Given the description of an element on the screen output the (x, y) to click on. 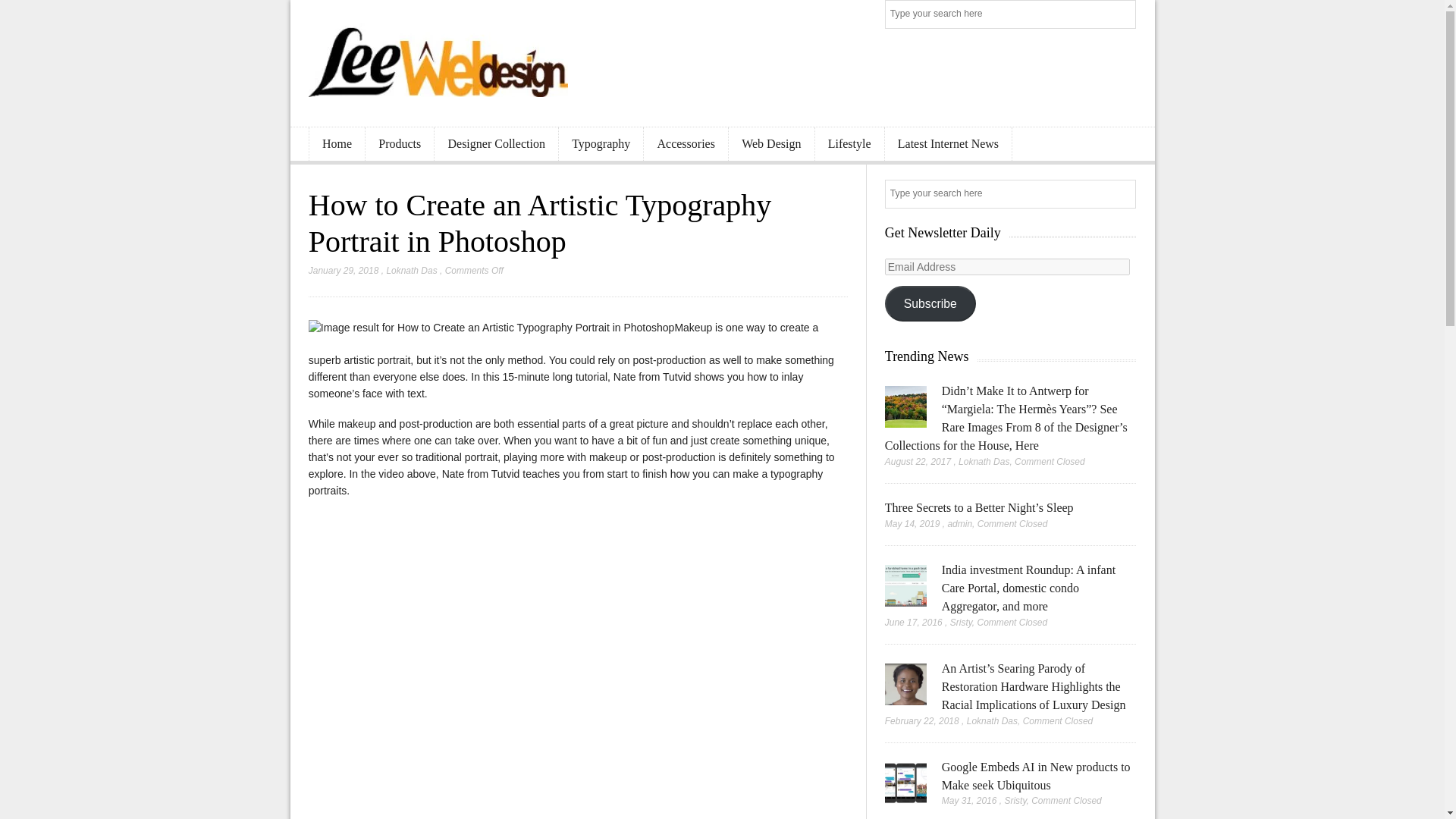
Search (1123, 15)
Typography (601, 144)
Products (399, 144)
Web Design (771, 144)
Lifestyle (849, 144)
Posts by Loknath Das (410, 270)
Home (336, 144)
Loknath Das (410, 270)
Accessories (685, 144)
Designer Collection (495, 144)
